Given the description of an element on the screen output the (x, y) to click on. 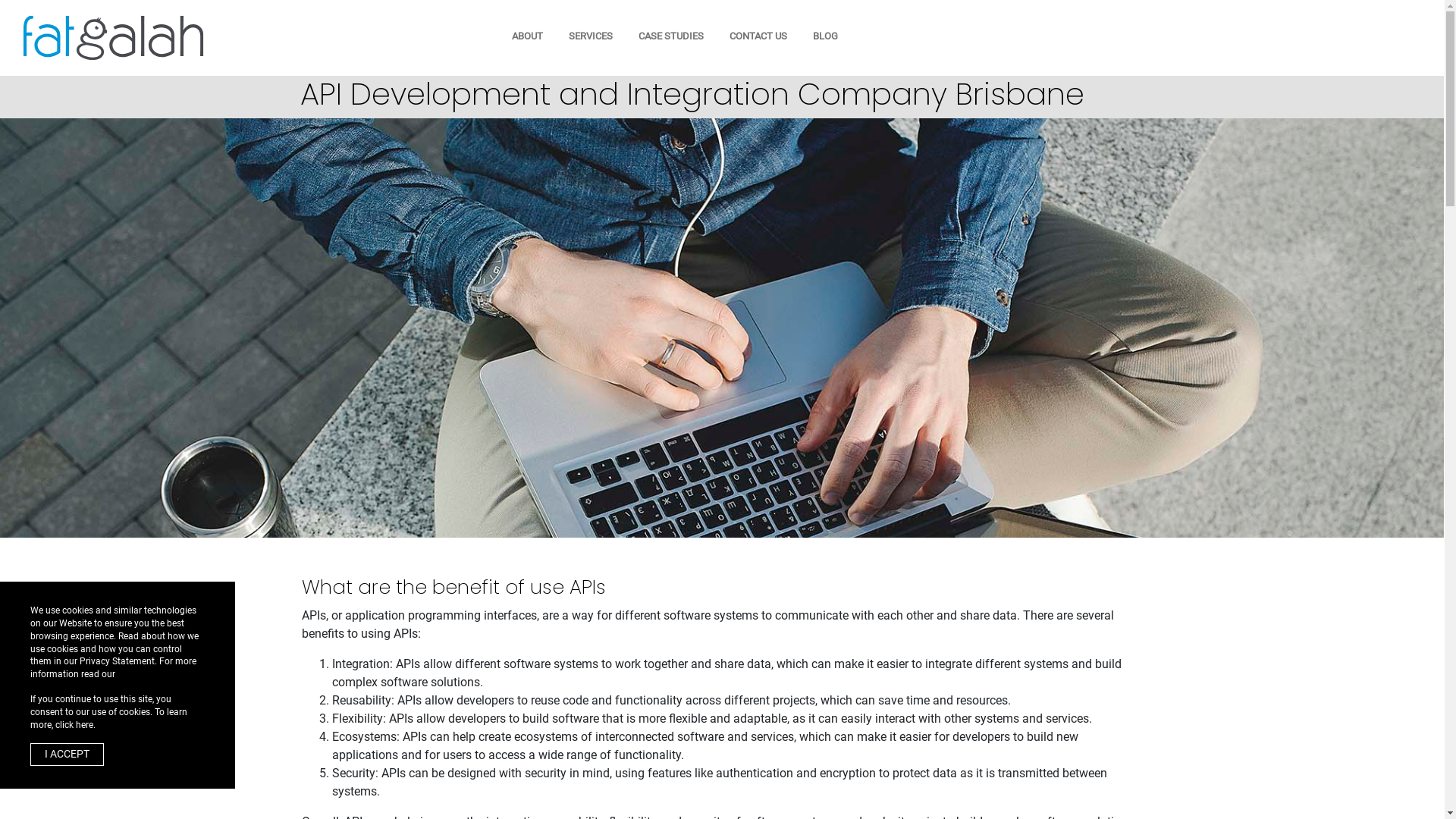
CASE STUDIES Element type: text (671, 36)
BLOG Element type: text (825, 36)
ABOUT Element type: text (527, 36)
CONTACT US Element type: text (758, 36)
SERVICES Element type: text (590, 36)
I ACCEPT Element type: text (66, 754)
Logo Element type: hover (113, 36)
